Given the description of an element on the screen output the (x, y) to click on. 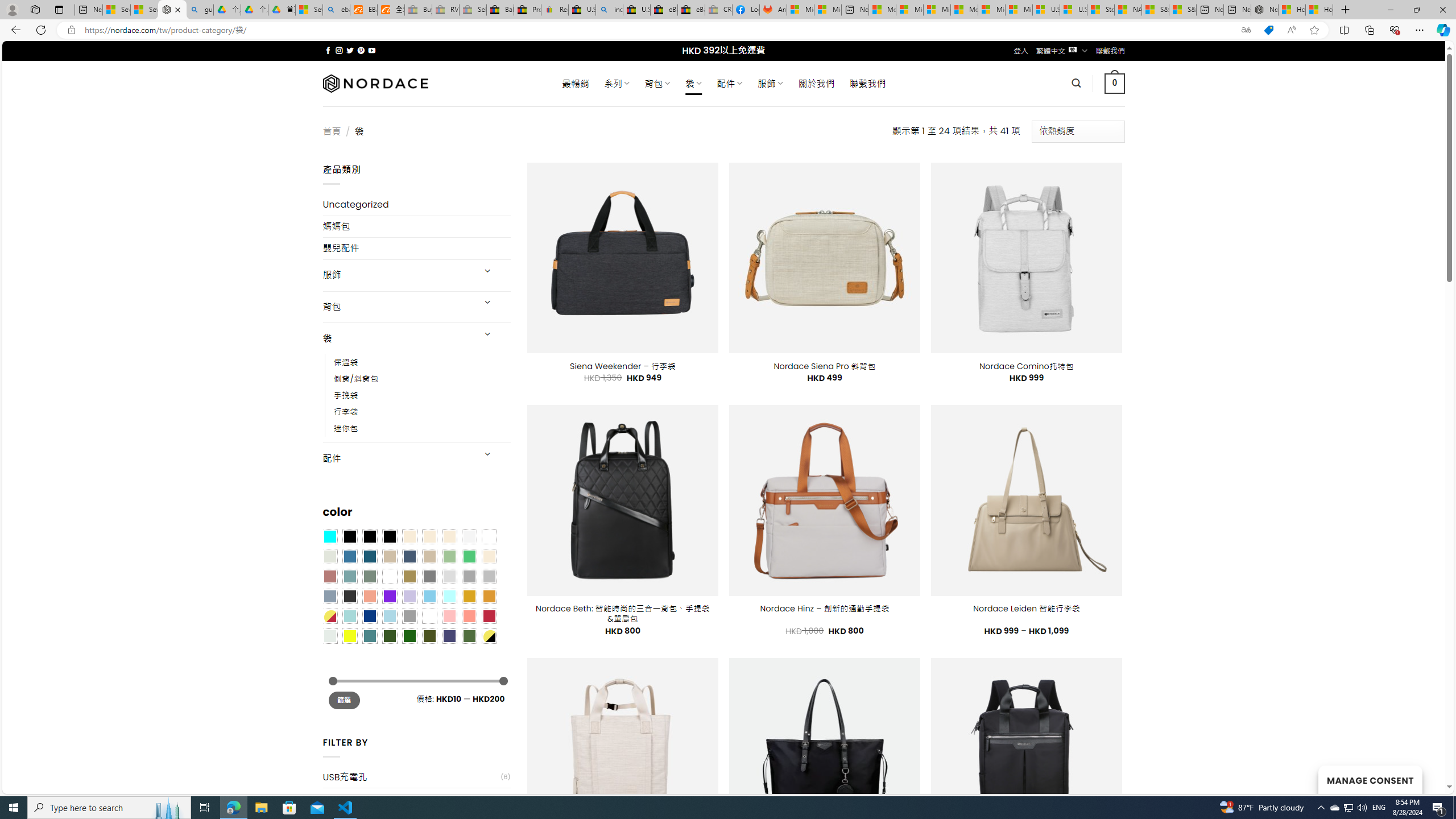
eBay Inc. Reports Third Quarter 2023 Results (691, 9)
MANAGE CONSENT (1369, 779)
Press Room - eBay Inc. (527, 9)
